Given the description of an element on the screen output the (x, y) to click on. 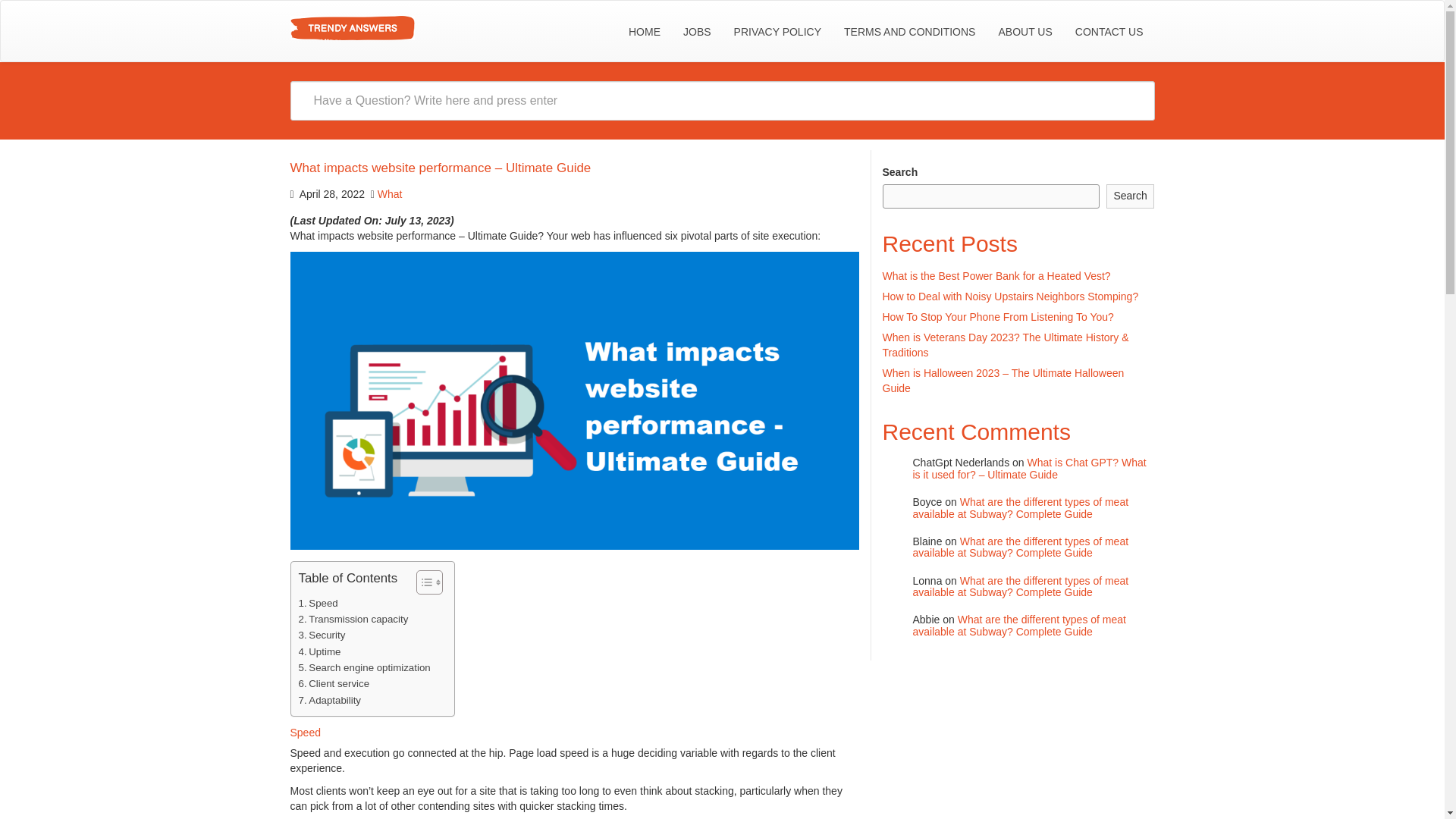
Adaptability (329, 700)
JOBS (696, 31)
Transmission capacity (353, 618)
Search (1130, 196)
Client service (333, 683)
What is the Best Power Bank for a Heated Vest? (996, 275)
Transmission capacity (353, 618)
TERMS AND CONDITIONS (909, 31)
Speed (317, 602)
PRIVACY POLICY (777, 31)
